Given the description of an element on the screen output the (x, y) to click on. 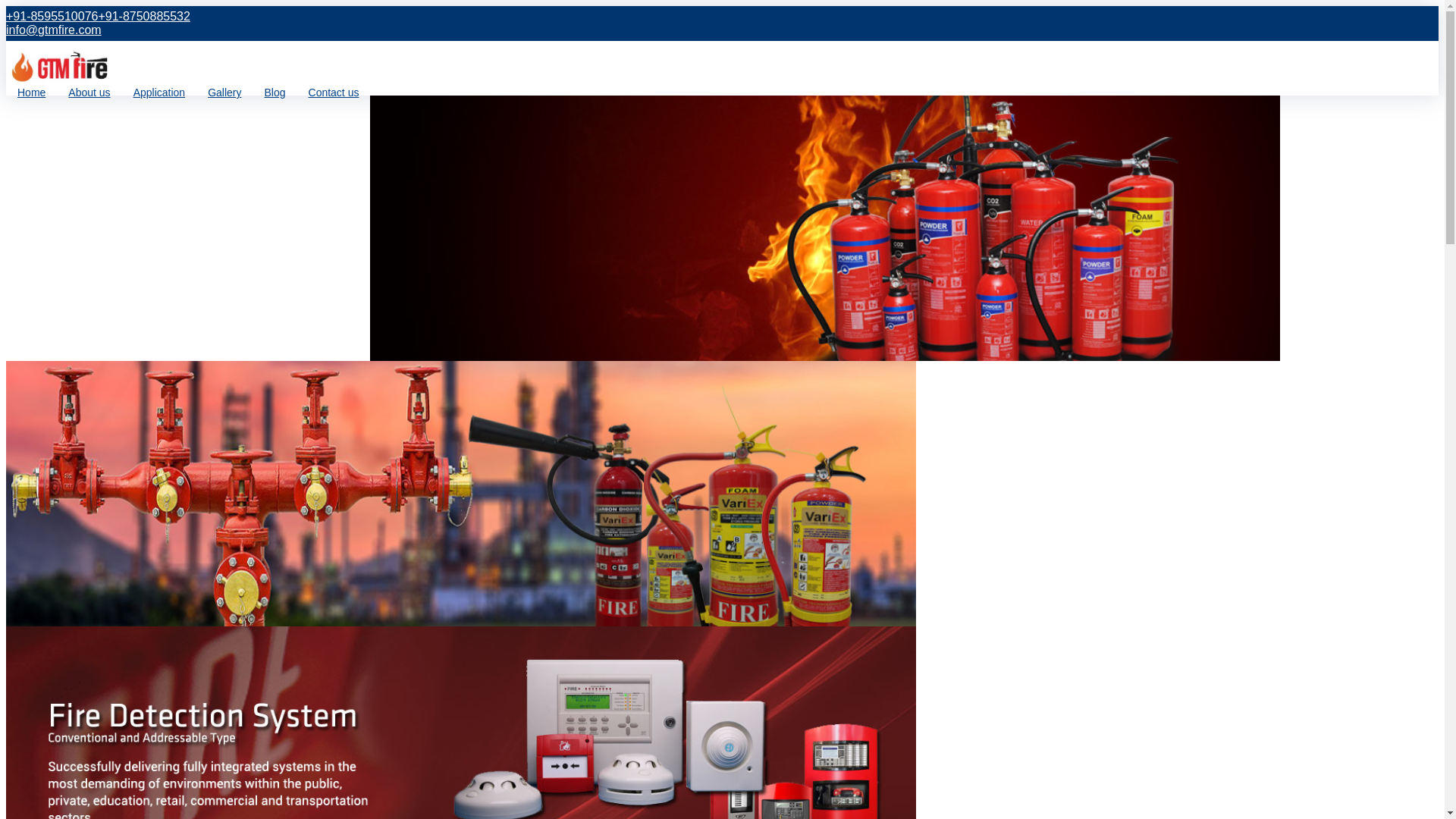
Contact us (334, 92)
Blog (274, 92)
Home (30, 92)
BLOG (13, 132)
Gallery (223, 92)
Application (159, 92)
About us (88, 92)
HOME (13, 26)
ABOUT US (13, 53)
GALLERY (13, 106)
CONTACT US (13, 159)
APPLICATION (13, 79)
